Given the description of an element on the screen output the (x, y) to click on. 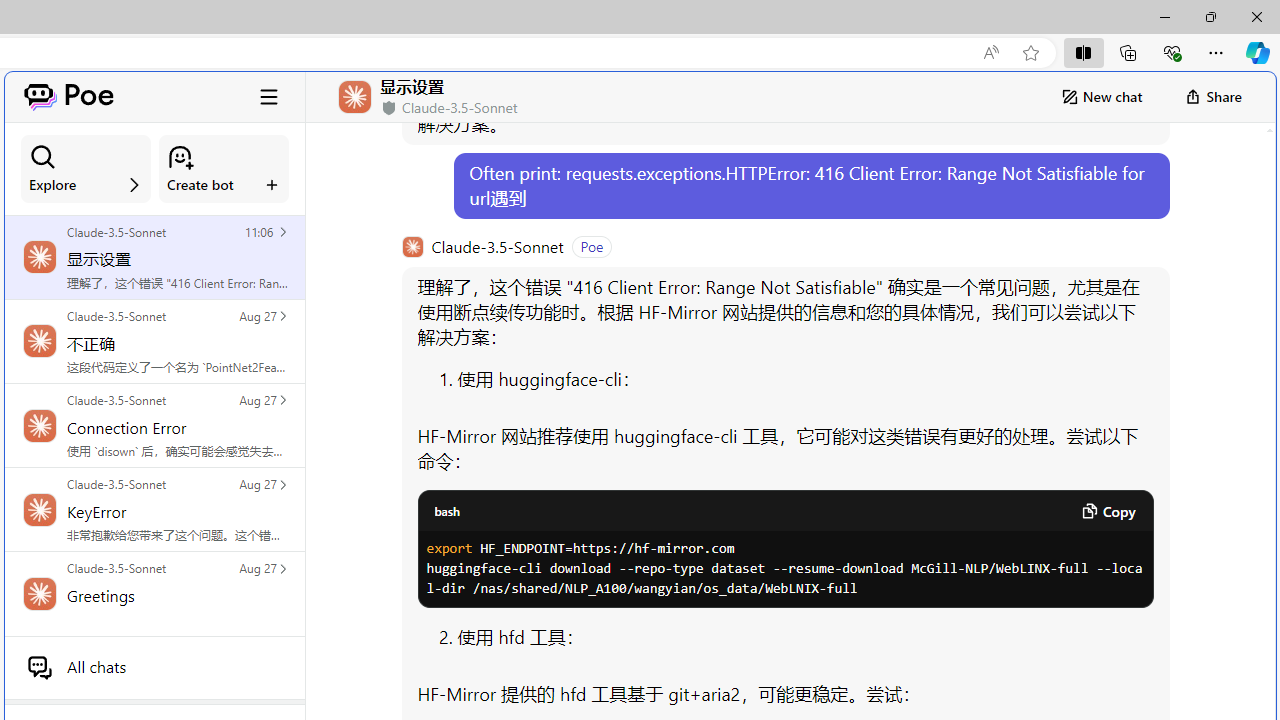
Class: ChatPrivacyIndicator_shieldIcon__4JelG (389, 108)
Poe (68, 96)
Class: ToggleSidebarCollapseButton_hamburgerIcon__VuiyV (269, 96)
Copy (1107, 511)
Create bot (223, 169)
